Given the description of an element on the screen output the (x, y) to click on. 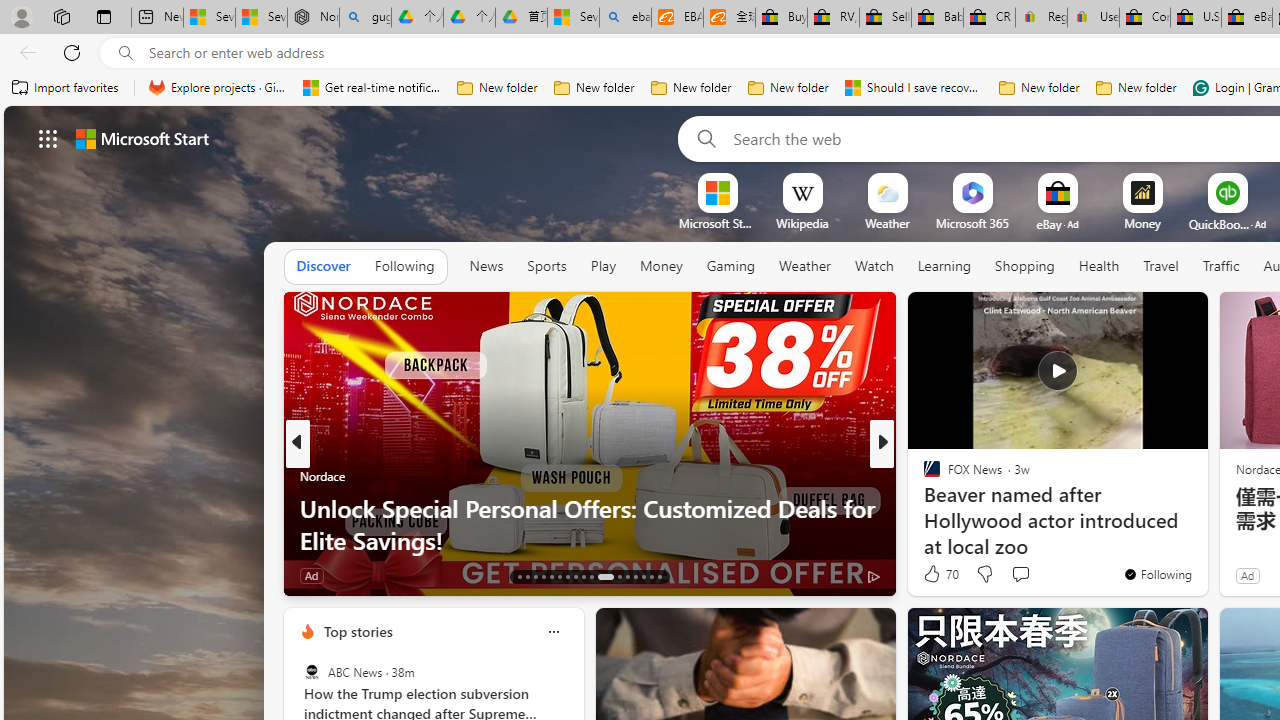
AutomationID: tab-21 (582, 576)
Discover (323, 267)
AutomationID: tab-22 (591, 576)
Tab actions menu (104, 16)
Ad Choice (873, 575)
AutomationID: tab-35 (659, 576)
Consumer Health Data Privacy Policy - eBay Inc. (1144, 17)
Buy Auto Parts & Accessories | eBay (781, 17)
App launcher (47, 138)
Discover (323, 265)
User Privacy Notice | eBay (1092, 17)
U.S. State Privacy Disclosures - eBay Inc. (1196, 17)
Microsoft Start Sports (717, 223)
Microsoft start (142, 138)
